Given the description of an element on the screen output the (x, y) to click on. 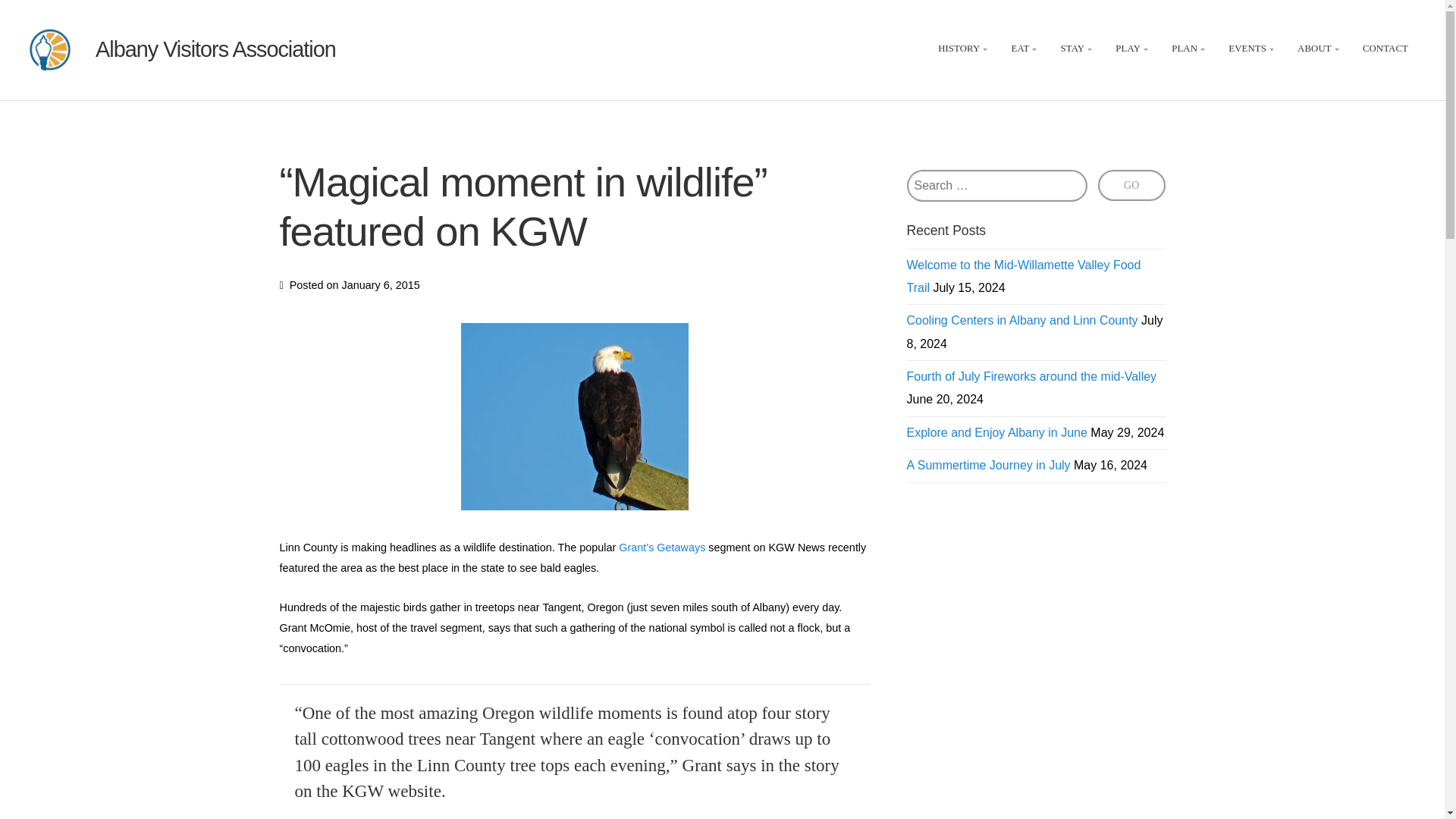
EVENTS (1252, 50)
Go (1131, 184)
Grant's Getaways at Travel Oregon (661, 547)
EAT (1026, 50)
PLAN (1190, 50)
HISTORY (963, 50)
PLAY (1133, 50)
Albany Visitors Association (216, 48)
STAY (1078, 50)
